Given the description of an element on the screen output the (x, y) to click on. 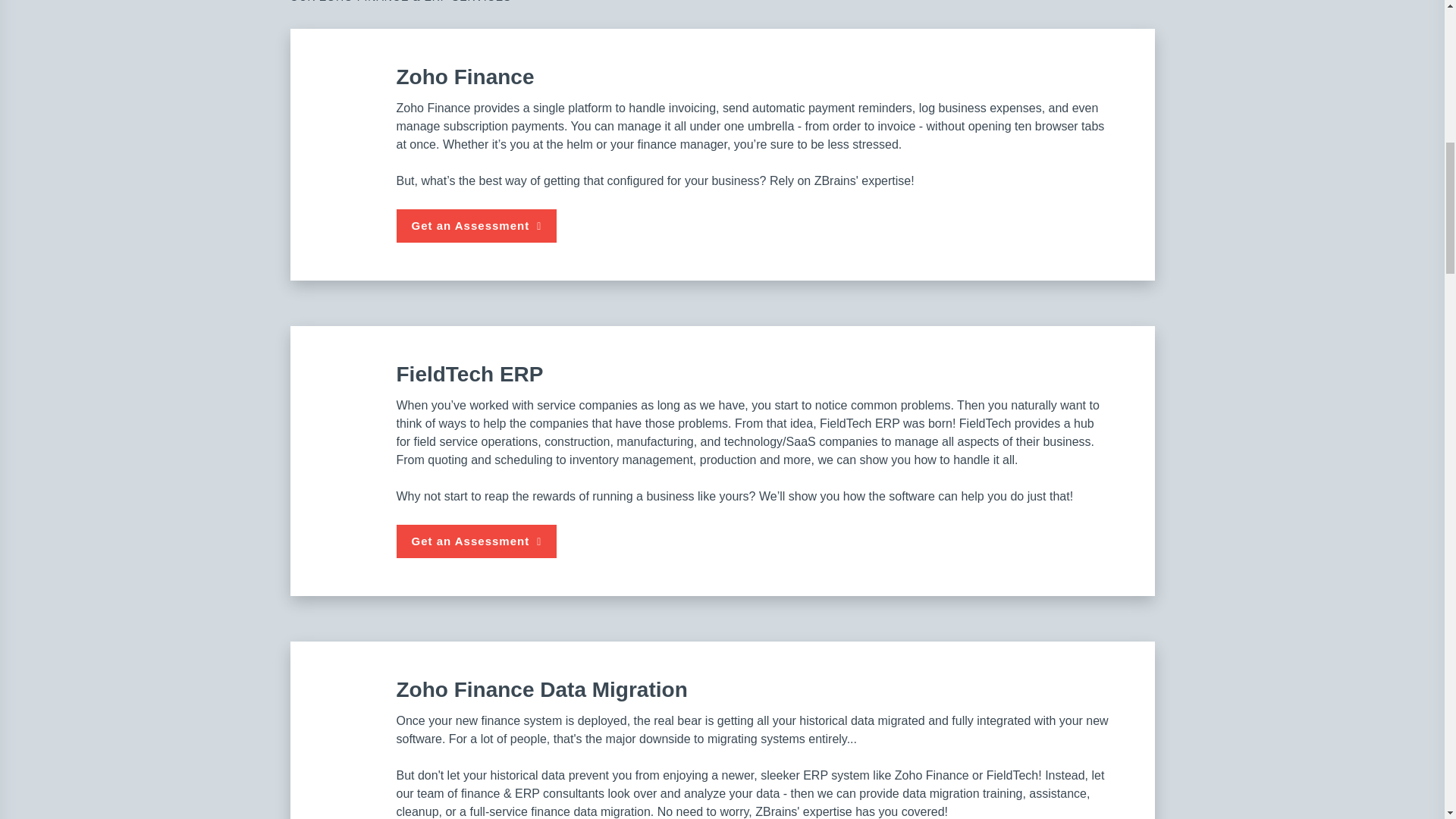
Zoho Finance Data Migration (350, 709)
Zoho Finance (350, 96)
FieldTech ERP (350, 393)
